Given the description of an element on the screen output the (x, y) to click on. 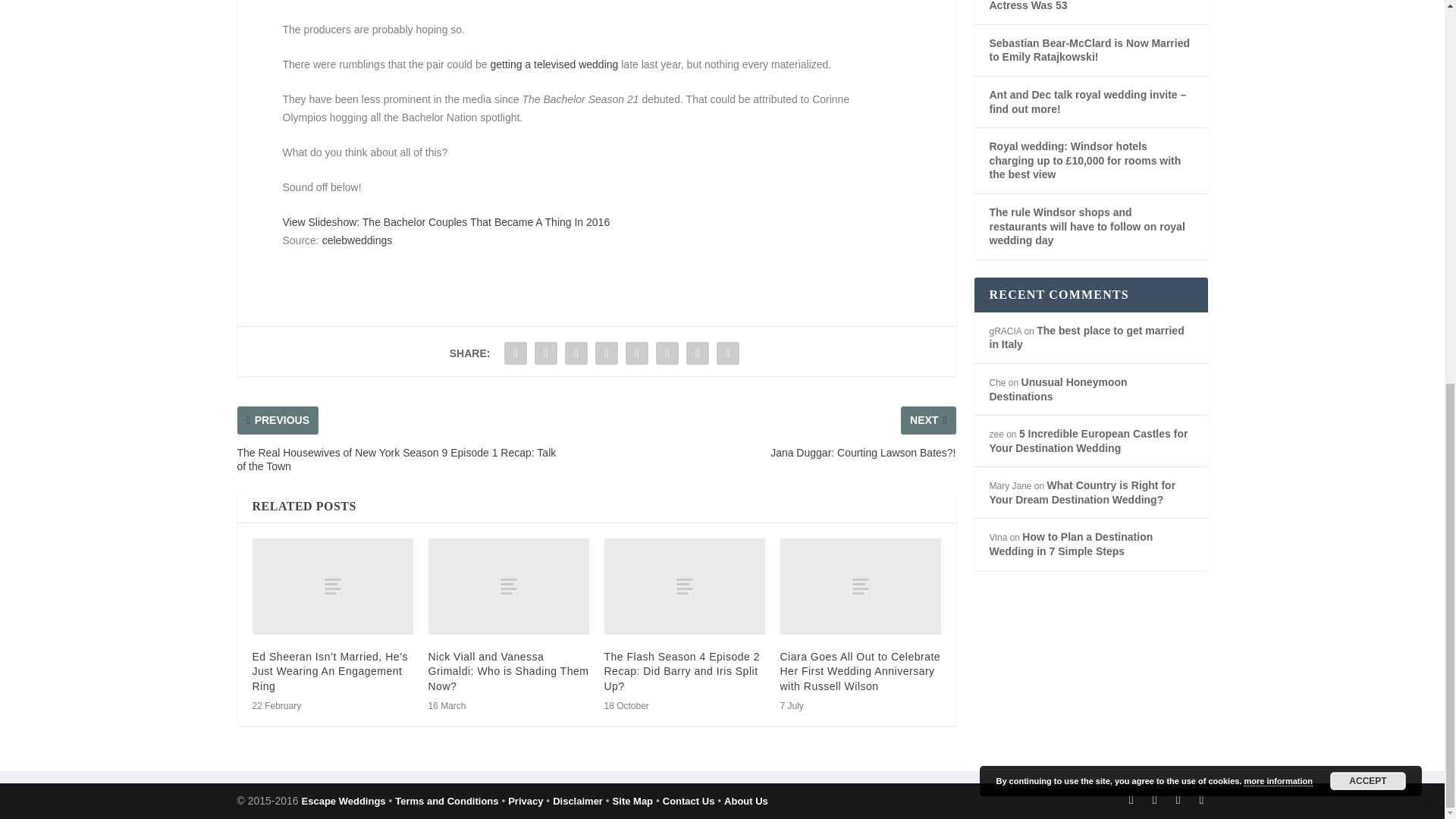
celebweddings (357, 240)
Nick Viall and Vanessa Grimaldi: Who is Shading Them Now? (508, 586)
Nick Viall and Vanessa Grimaldi: Who is Shading Them Now? (508, 670)
getting a televised wedding (553, 64)
